Given the description of an element on the screen output the (x, y) to click on. 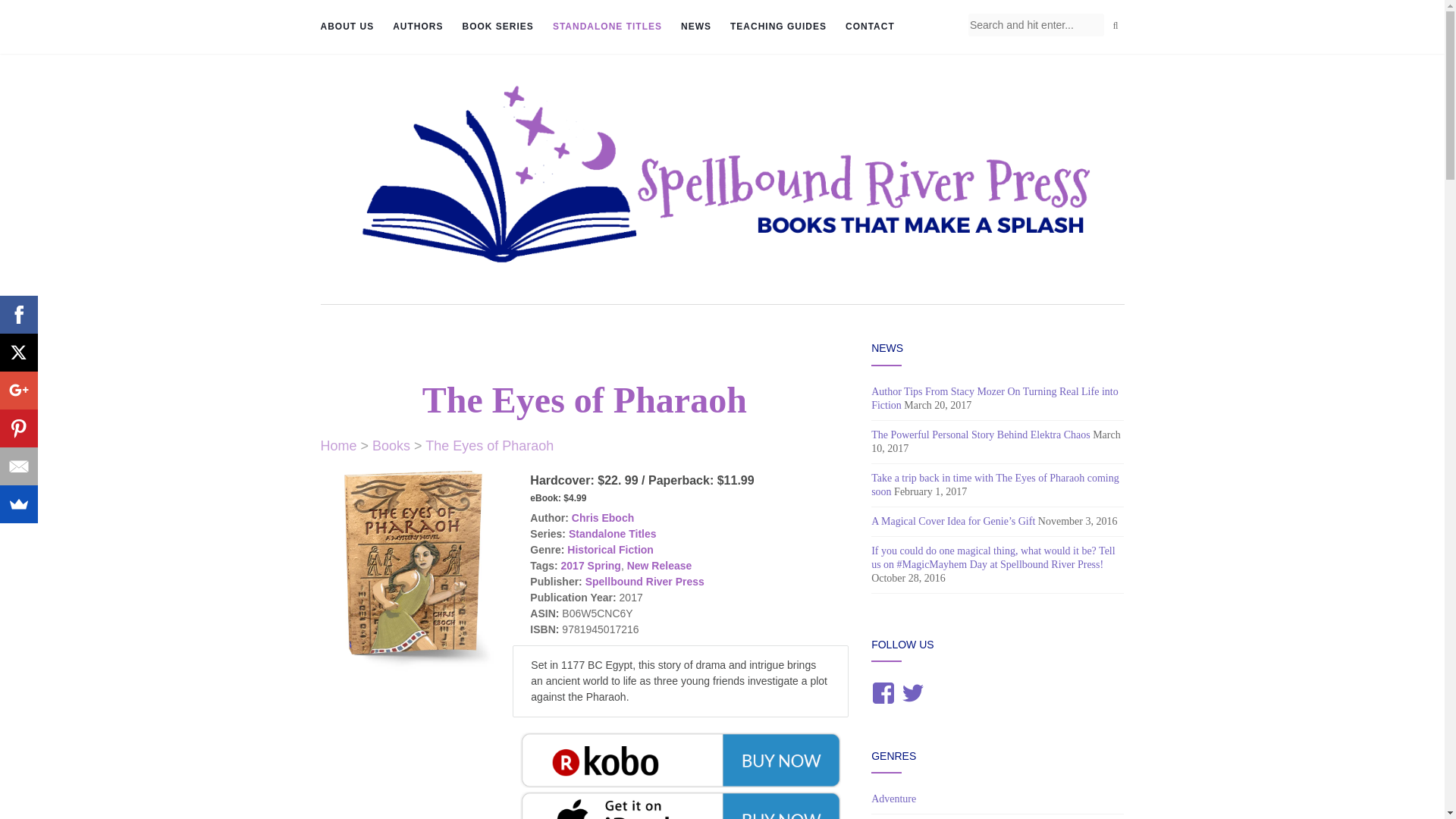
Standalone Titles (607, 27)
Book Series (498, 27)
Authors (417, 27)
2017 Spring (590, 565)
Books (391, 445)
New Release (660, 565)
Standalone Titles (612, 533)
ABOUT US (347, 27)
AUTHORS (417, 27)
BOOK SERIES (498, 27)
